Given the description of an element on the screen output the (x, y) to click on. 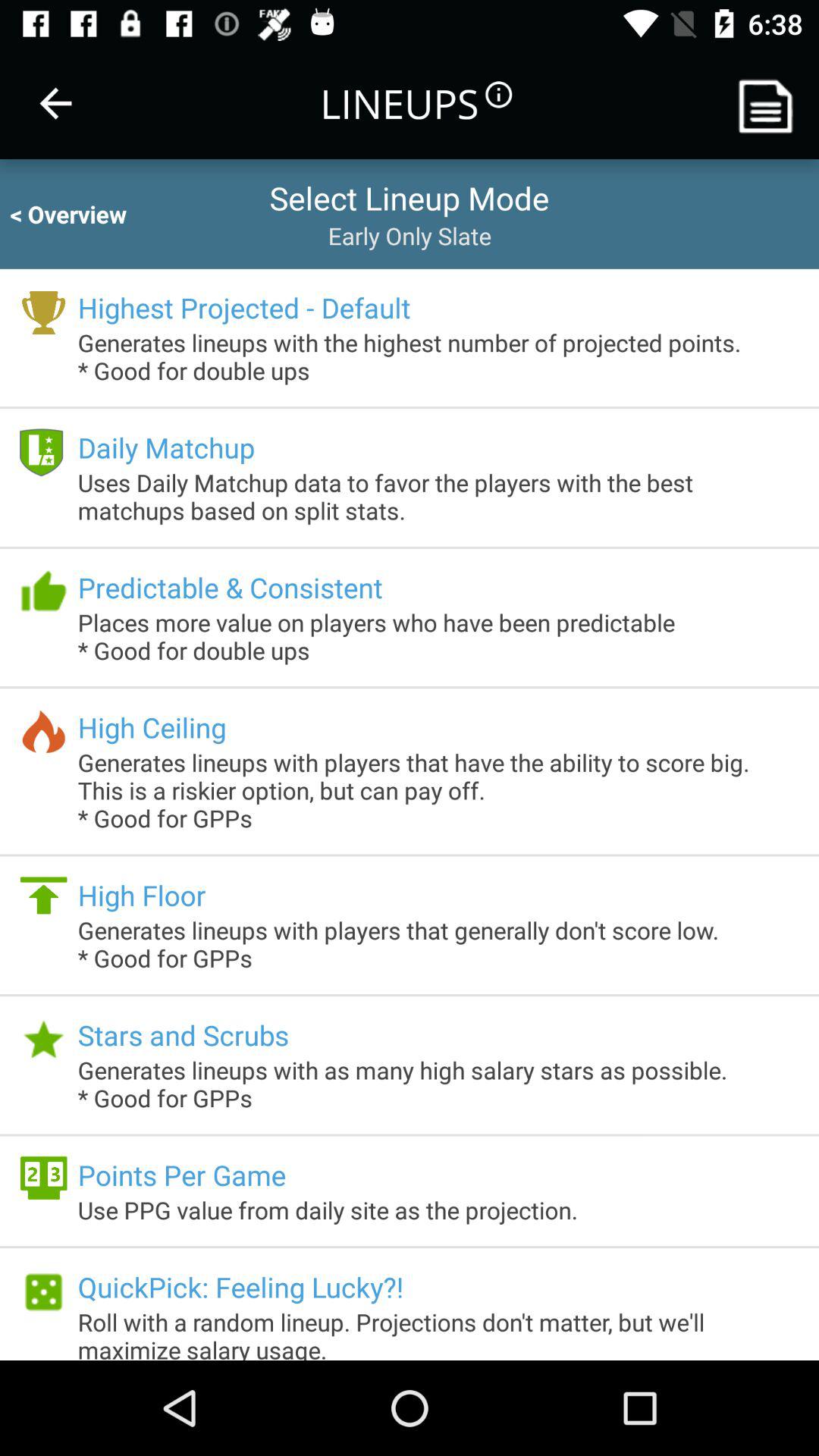
turn off icon to the left of the lineups icon (55, 103)
